Given the description of an element on the screen output the (x, y) to click on. 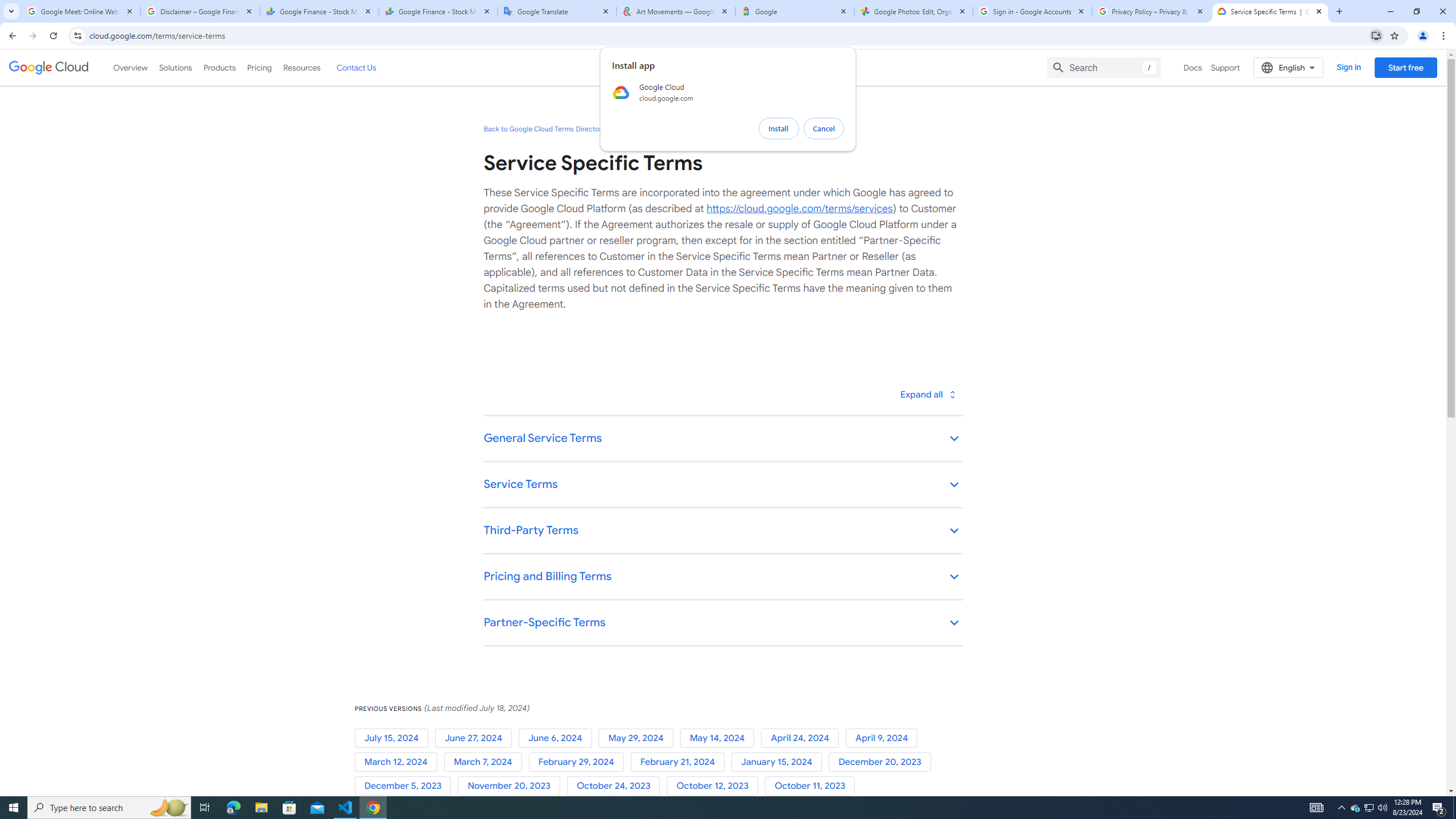
https://cloud.google.com/terms/services (799, 208)
Pricing (259, 67)
Service Terms keyboard_arrow_down (722, 485)
Partner-Specific Terms keyboard_arrow_down (722, 623)
Back to Google Cloud Terms Directory (544, 128)
Products (218, 67)
Support (1225, 67)
June 6, 2024 (558, 737)
October 24, 2023 (616, 786)
